Given the description of an element on the screen output the (x, y) to click on. 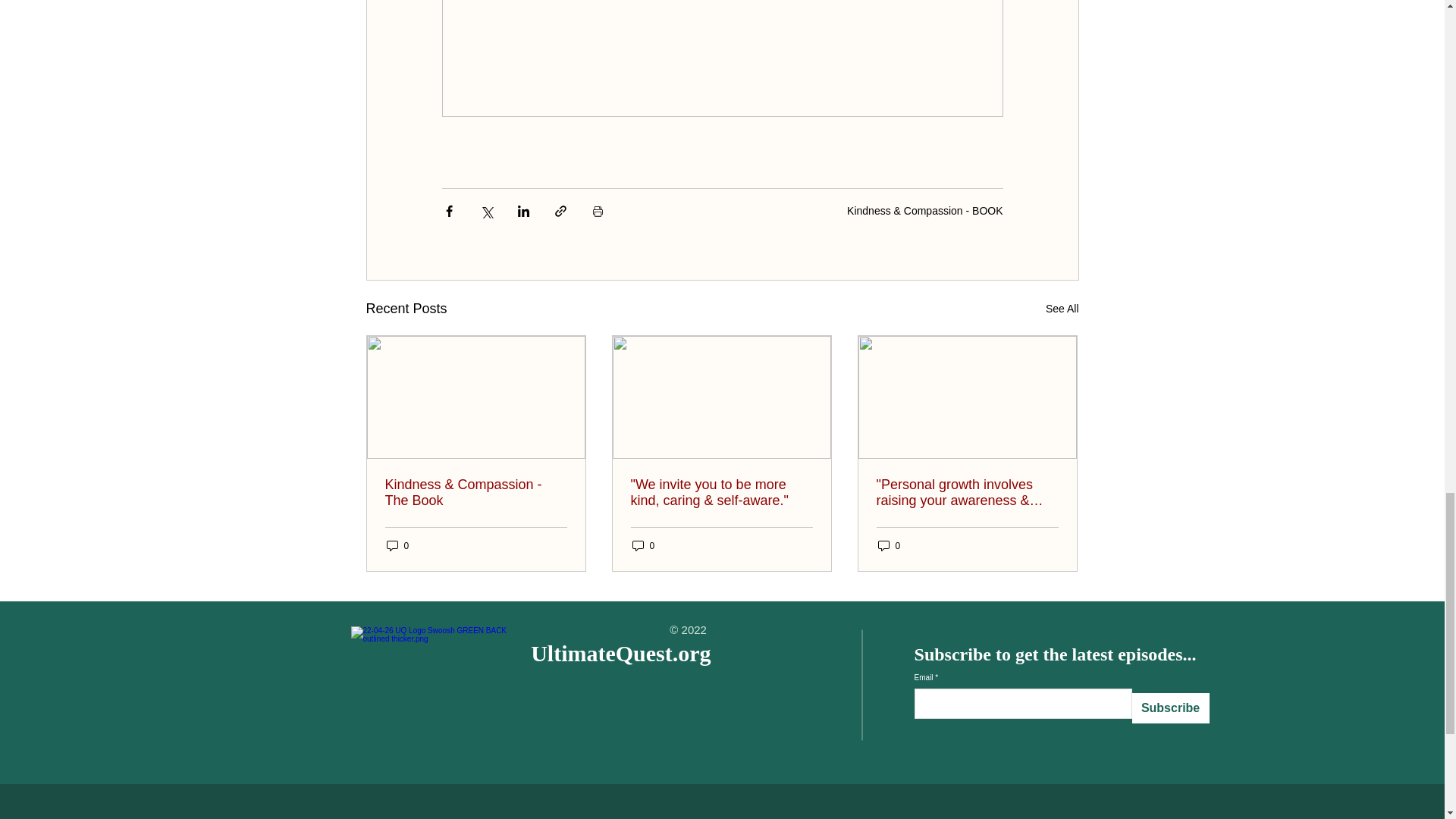
0 (397, 545)
UltimateQuest.org (620, 652)
See All (1061, 309)
Subscribe (1170, 707)
0 (889, 545)
0 (643, 545)
